Given the description of an element on the screen output the (x, y) to click on. 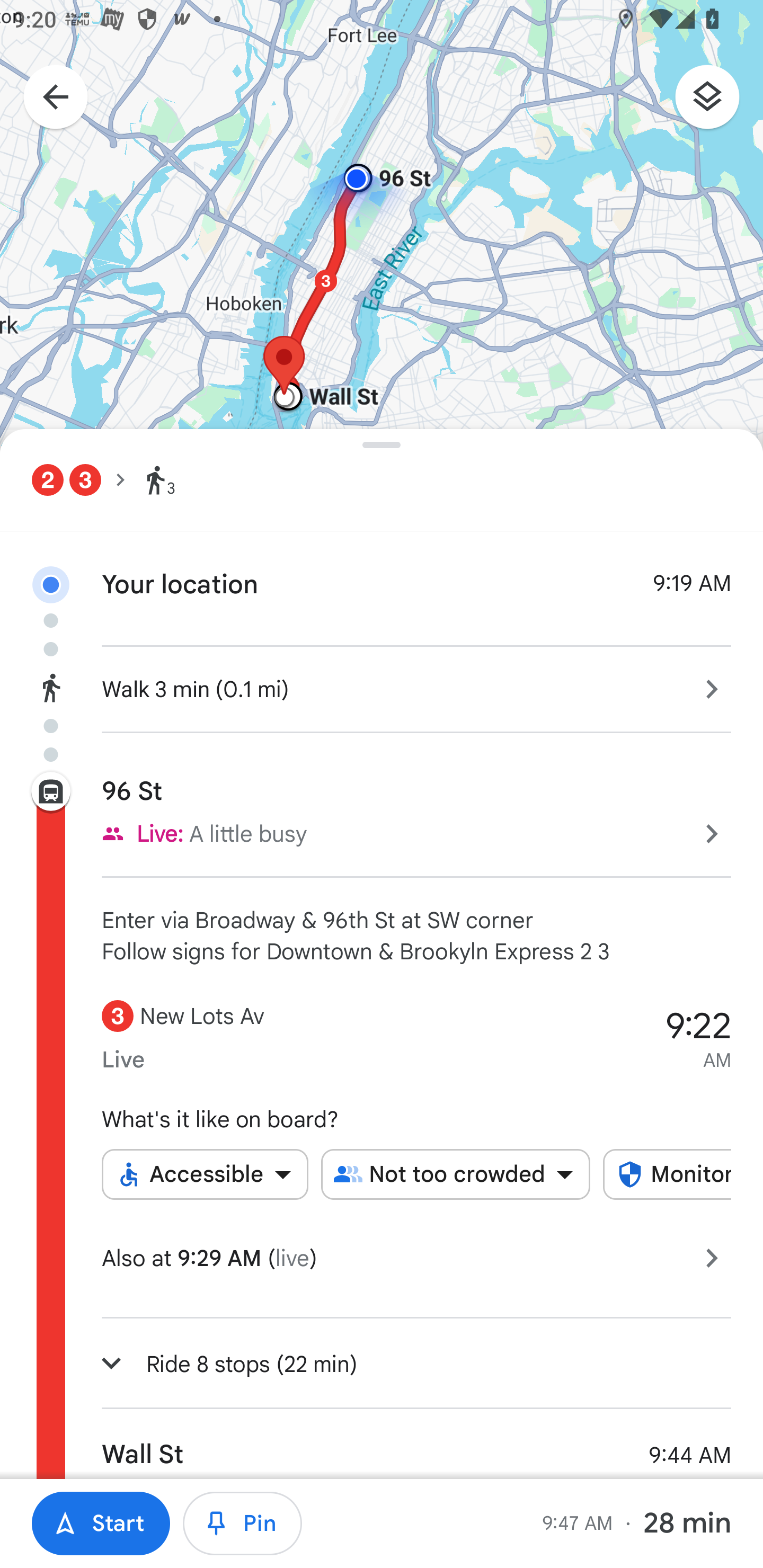
Back (46, 98)
Layers (716, 103)
Your location Your location 9:19 AM (381, 568)
Walk 3 min (0.1 mi) Zoom map (381, 686)
Accessible Accessible Accessible (204, 1174)
Not too crowded Not too crowded Not too crowded (455, 1174)
Pin trip Pin Pin trip (242, 1522)
